Given the description of an element on the screen output the (x, y) to click on. 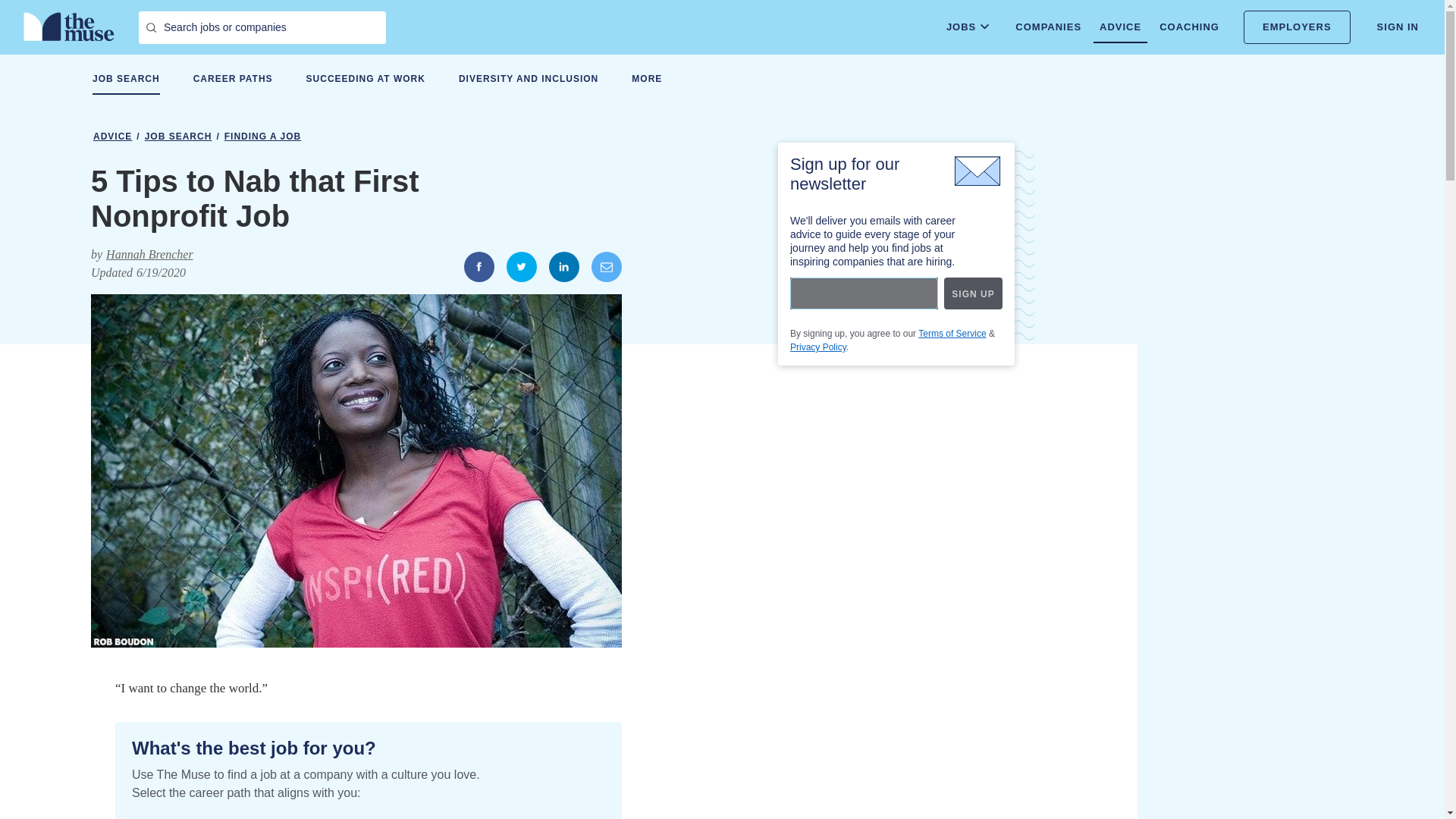
EMPLOYERS (1297, 27)
COACHING (1189, 27)
SIGN IN (1398, 27)
COMPANIES (1048, 27)
ADVICE (1120, 27)
